Given the description of an element on the screen output the (x, y) to click on. 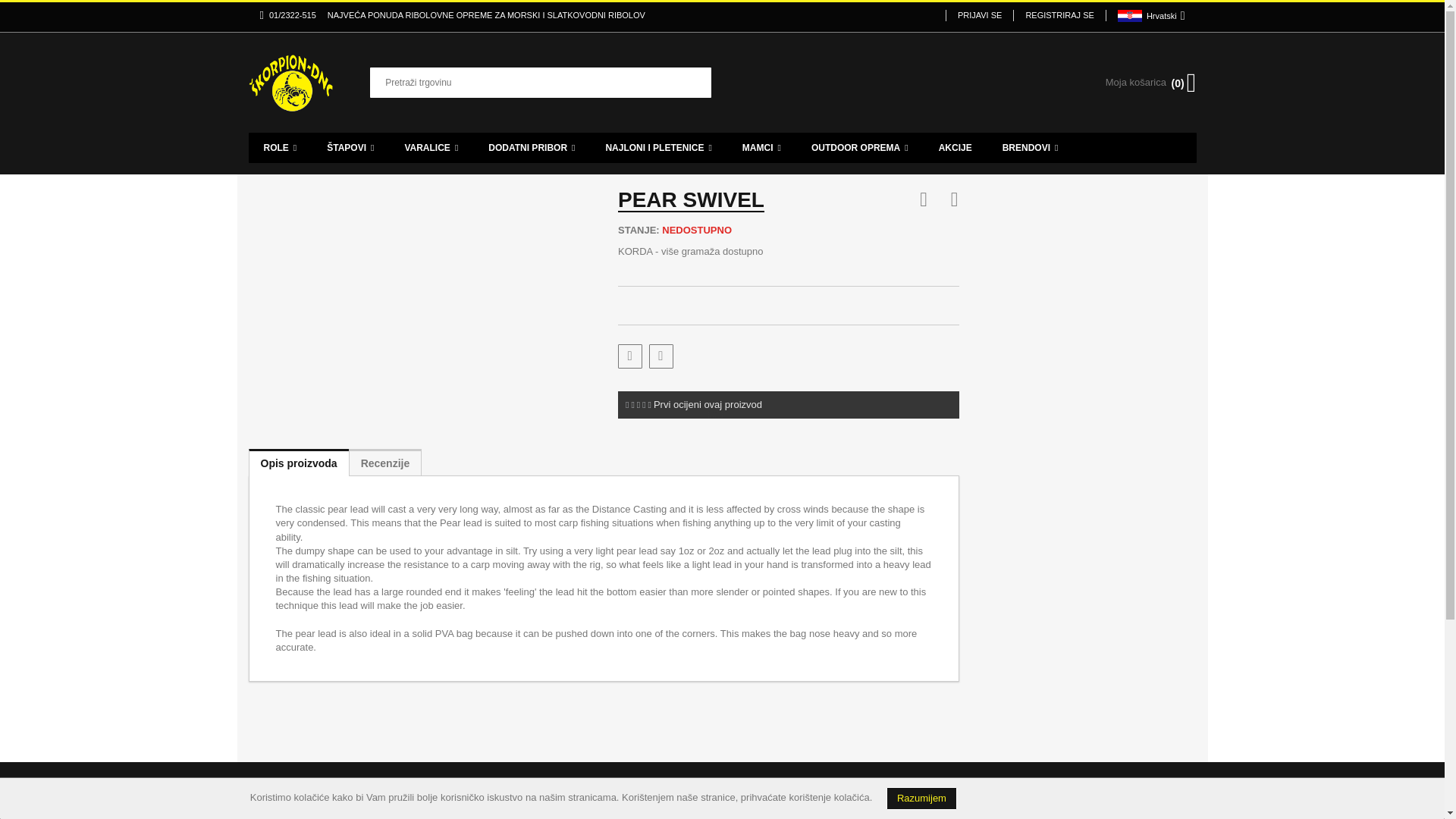
Dodaj za usporedbu (660, 355)
ROLE (280, 147)
Razumijem (921, 798)
PRIJAVI SE (978, 15)
REGISTRIRAJ SE (1059, 15)
